Given the description of an element on the screen output the (x, y) to click on. 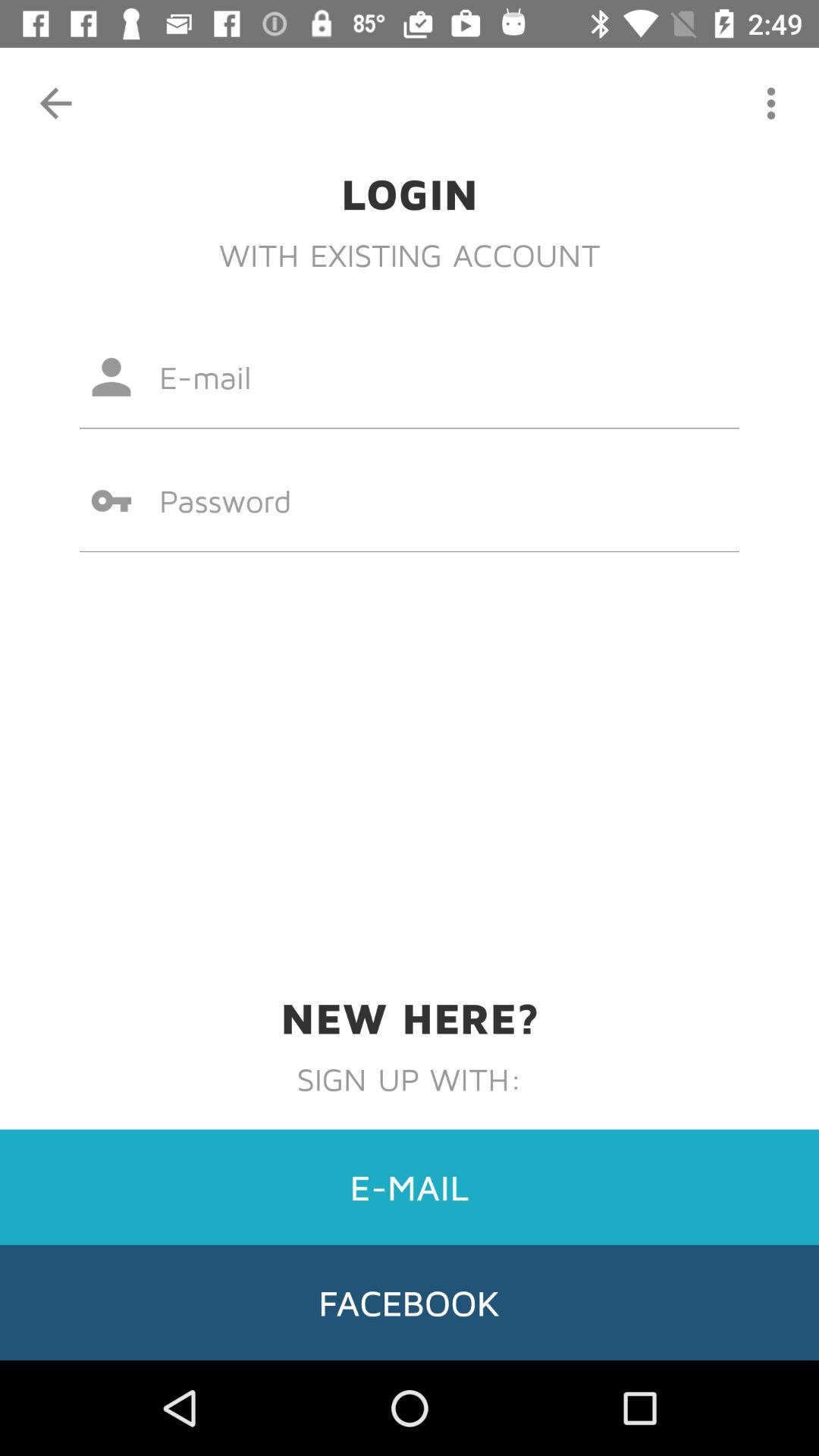
open the icon above facebook item (409, 1186)
